Given the description of an element on the screen output the (x, y) to click on. 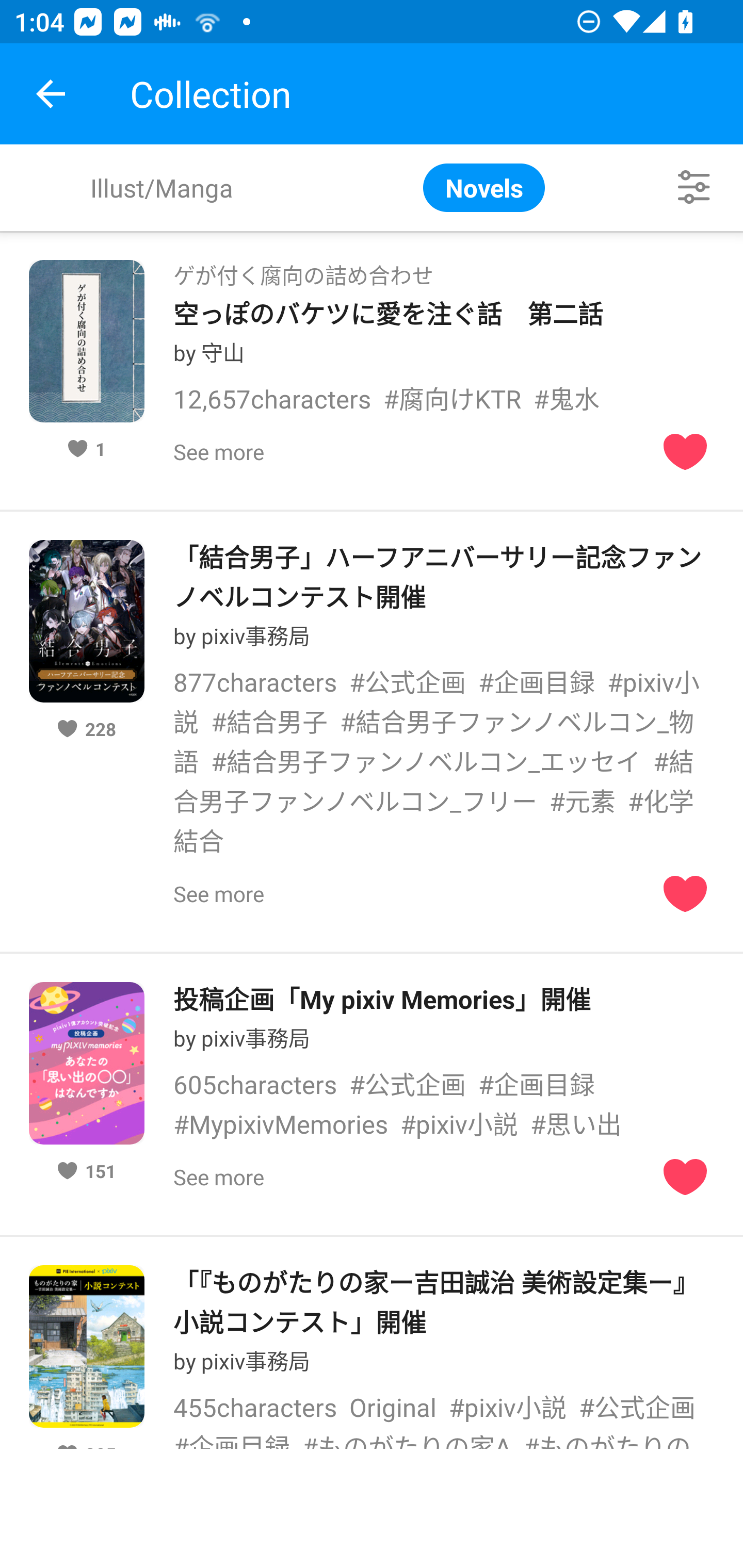
Navigate up (50, 93)
Illust/Manga (161, 187)
Novels (483, 187)
ゲが付く腐向の詰め合わせ (303, 269)
